Given the description of an element on the screen output the (x, y) to click on. 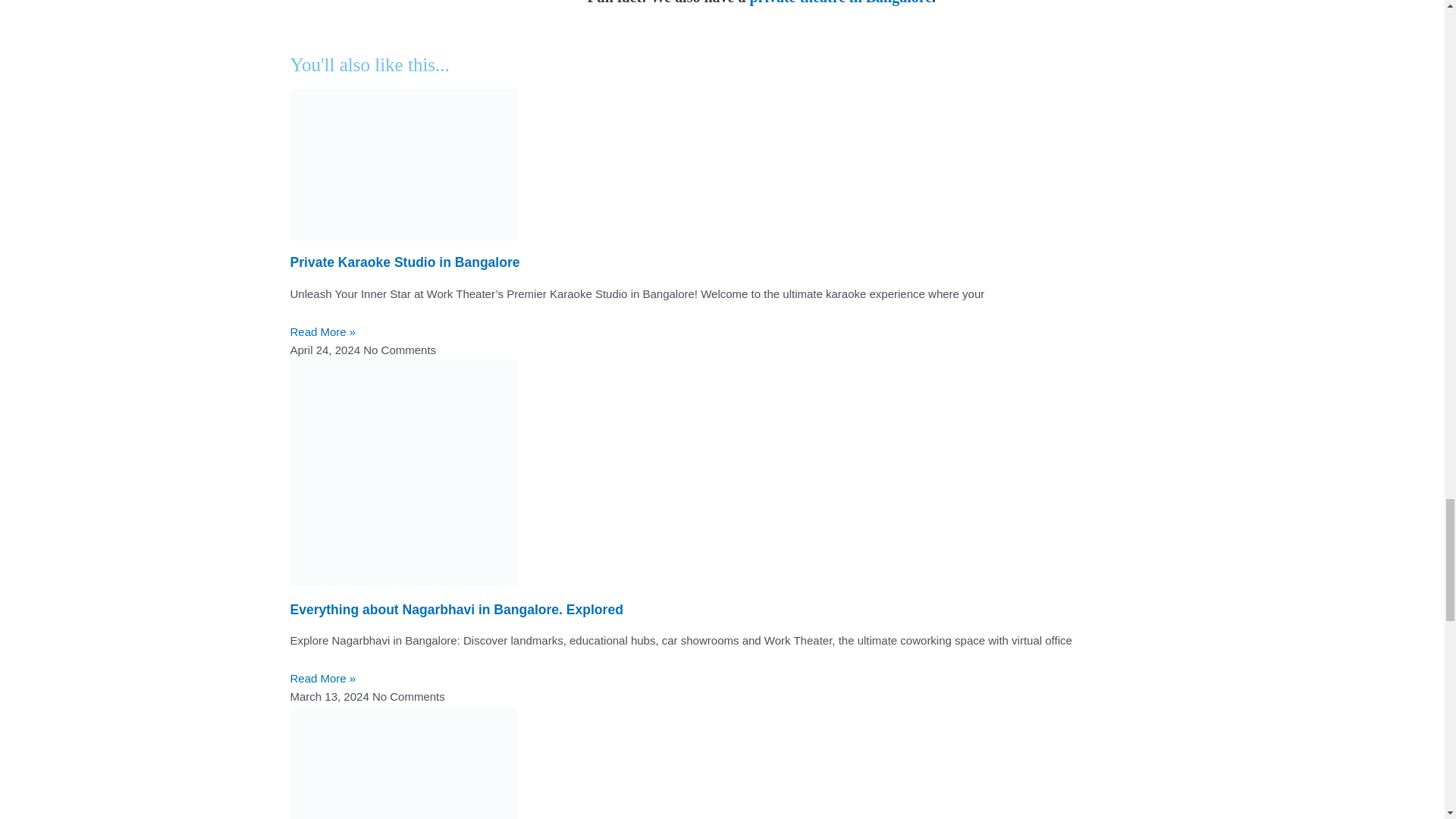
private theatre in Bangalore (840, 2)
Private Karaoke Studio in Bangalore (404, 262)
Everything about Nagarbhavi in Bangalore. Explored (456, 609)
